Given the description of an element on the screen output the (x, y) to click on. 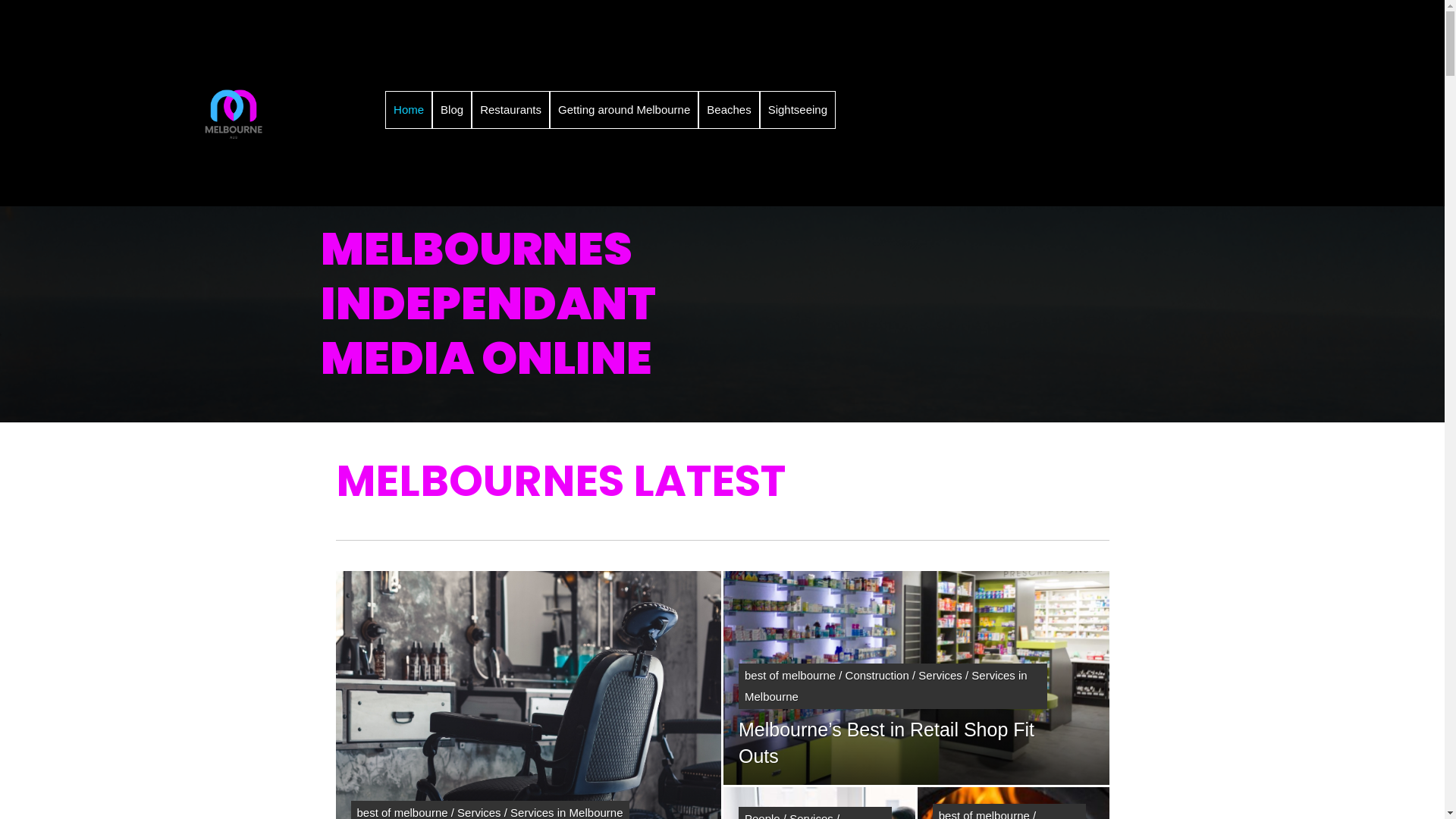
Beaches Element type: text (728, 109)
Getting around Melbourne Element type: text (623, 109)
Sightseeing Element type: text (797, 109)
MELBOURNE (5) (1) Element type: hover (232, 114)
Blog Element type: text (451, 109)
Home Element type: text (408, 109)
Restaurants Element type: text (510, 109)
